Given the description of an element on the screen output the (x, y) to click on. 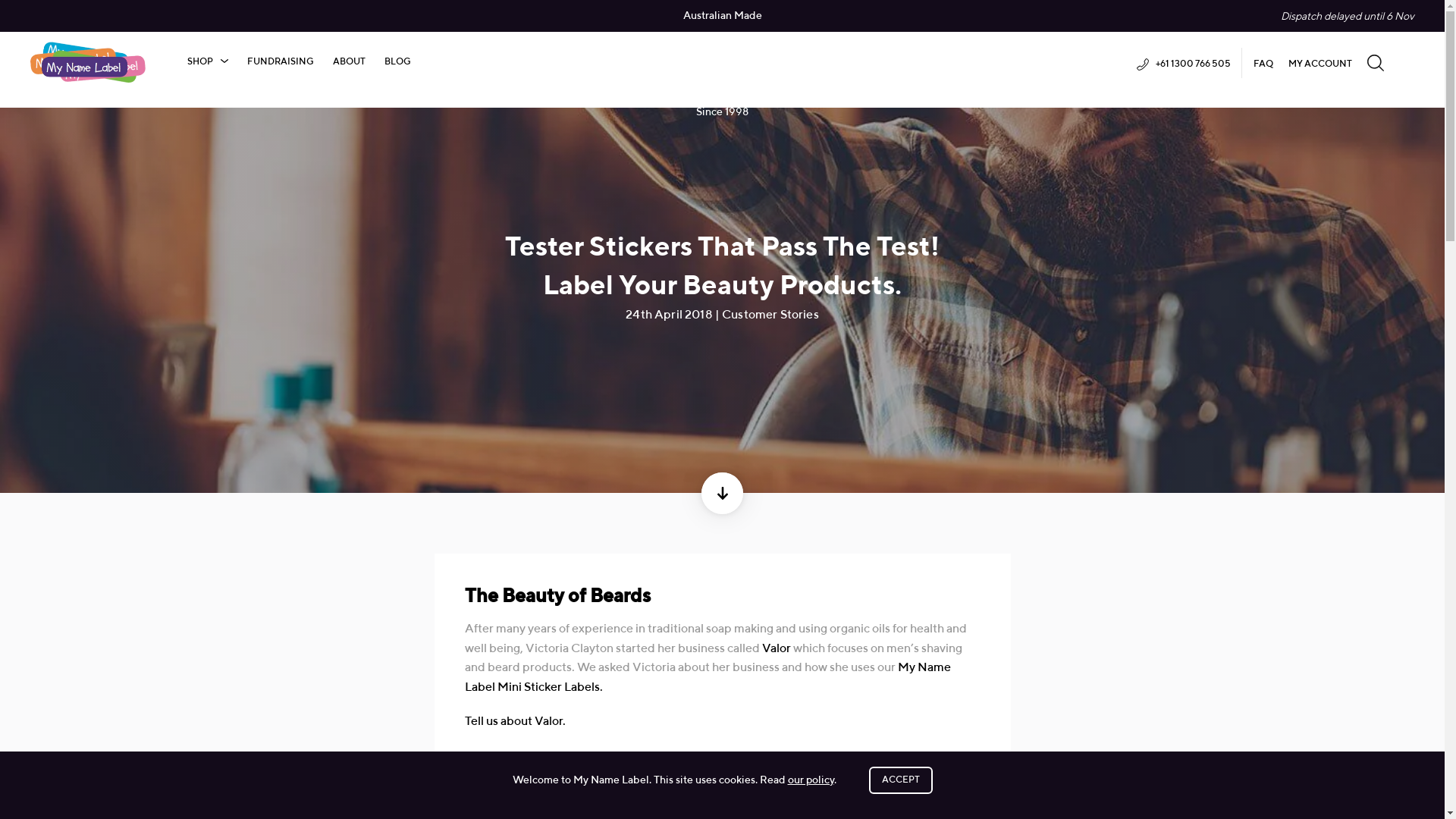
SHOP Element type: text (207, 61)
+61 1300 766 505 Element type: text (1183, 64)
ABOUT Element type: text (348, 61)
our policy Element type: text (810, 780)
ACCEPT Element type: text (900, 779)
SEARCH Element type: text (1375, 62)
CART Element type: text (1406, 62)
FUNDRAISING Element type: text (280, 61)
FAQ Element type: text (1263, 64)
BLOG Element type: text (397, 61)
My Name Label Element type: text (87, 61)
My Name Label Mini Sticker Labels. Element type: text (707, 677)
MY ACCOUNT Element type: text (1320, 64)
Valor Element type: text (775, 649)
